Given the description of an element on the screen output the (x, y) to click on. 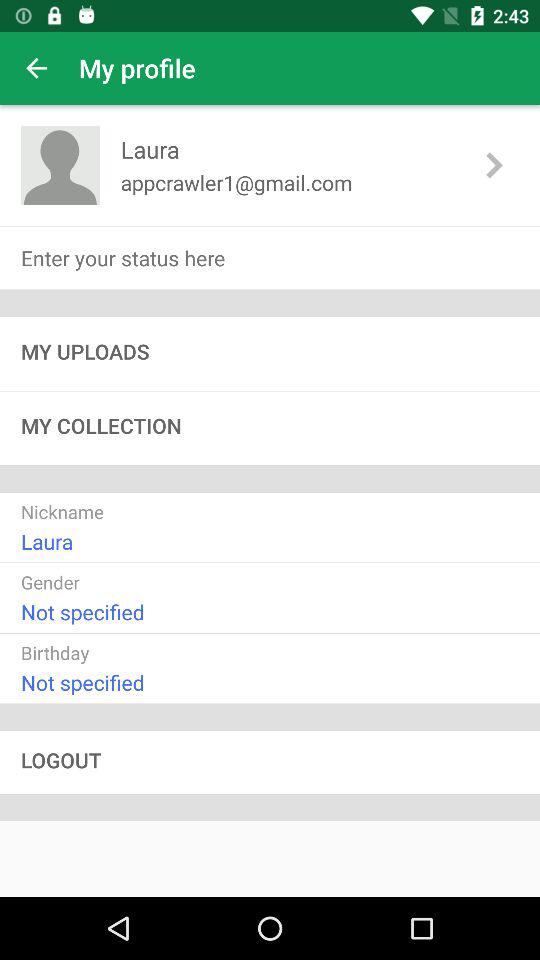
turn off app next to my profile (36, 68)
